Given the description of an element on the screen output the (x, y) to click on. 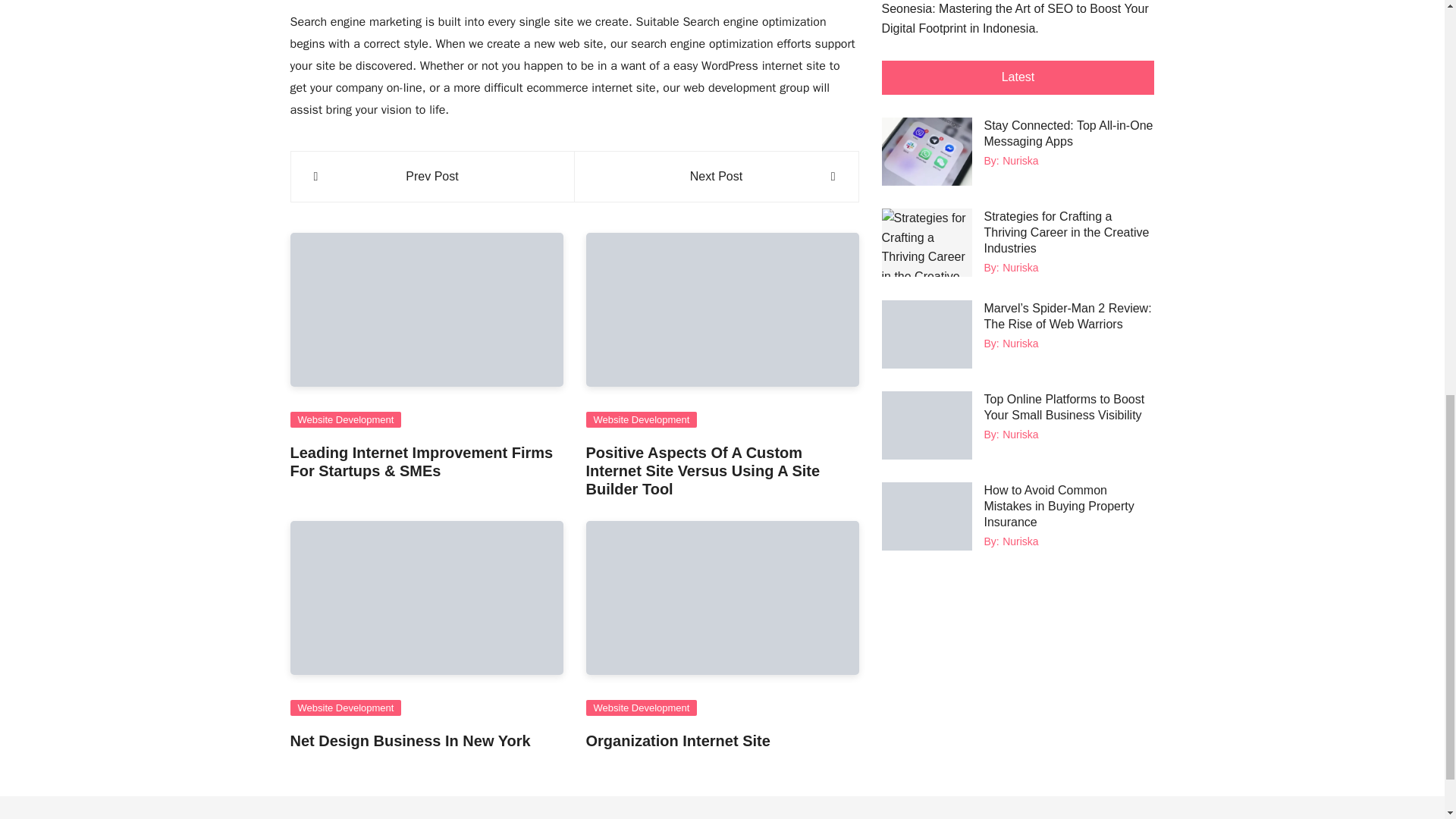
Website Development (641, 419)
Next Post (715, 176)
Prev Post (432, 176)
Website Development (345, 419)
